Given the description of an element on the screen output the (x, y) to click on. 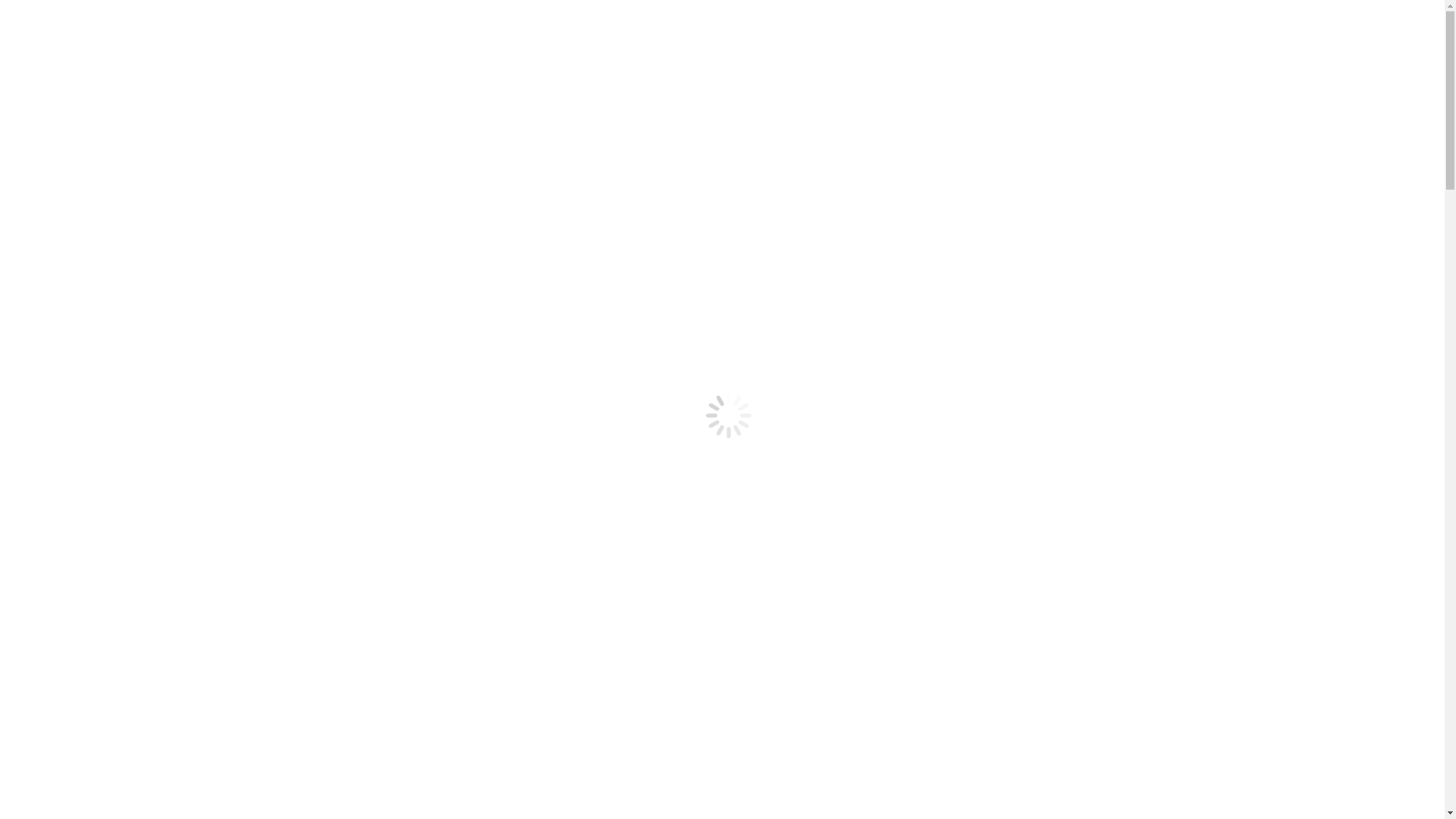
entreprises Element type: text (92, 479)
MEMBRES Element type: text (65, 452)
UPCOMING EVENTS Element type: text (169, 77)
COMMSJOBS Element type: text (72, 534)
MEMBRES Element type: text (65, 246)
professionnels de la communication Element type: text (153, 260)
Aller ! Element type: text (24, 412)
Nederlands Element type: text (70, 37)
BECOME MEMBER Element type: text (59, 77)
CONTACT Element type: text (64, 561)
AGENDA Element type: text (61, 439)
entreprises Element type: text (92, 273)
CONTACT Element type: text (64, 355)
professionnels de la communication Element type: text (153, 466)
Aller au contenu Element type: text (46, 12)
AGENDA Element type: text (61, 232)
COMMSJOBS Element type: text (72, 328)
Formulaire de recherche Element type: hover (73, 396)
Aller ! Element type: text (821, 699)
